Given the description of an element on the screen output the (x, y) to click on. 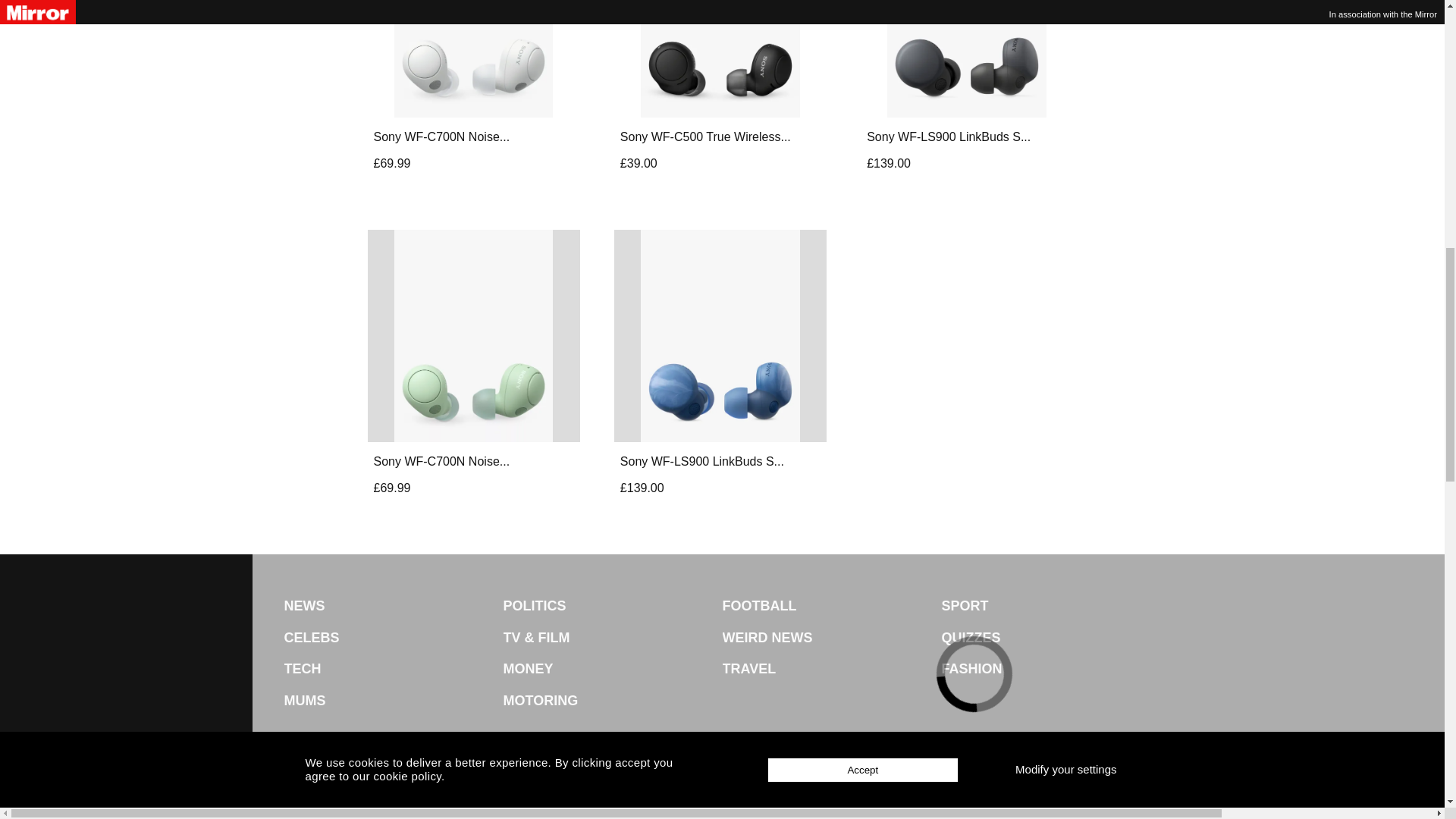
twitter (700, 795)
MONEY (612, 669)
SPORT (1051, 606)
TRAVEL (831, 669)
MUMS (392, 701)
instagram (783, 795)
NEWS (392, 606)
QUIZZES (1051, 638)
FOOTBALL (831, 606)
POLITICS (612, 606)
